Given the description of an element on the screen output the (x, y) to click on. 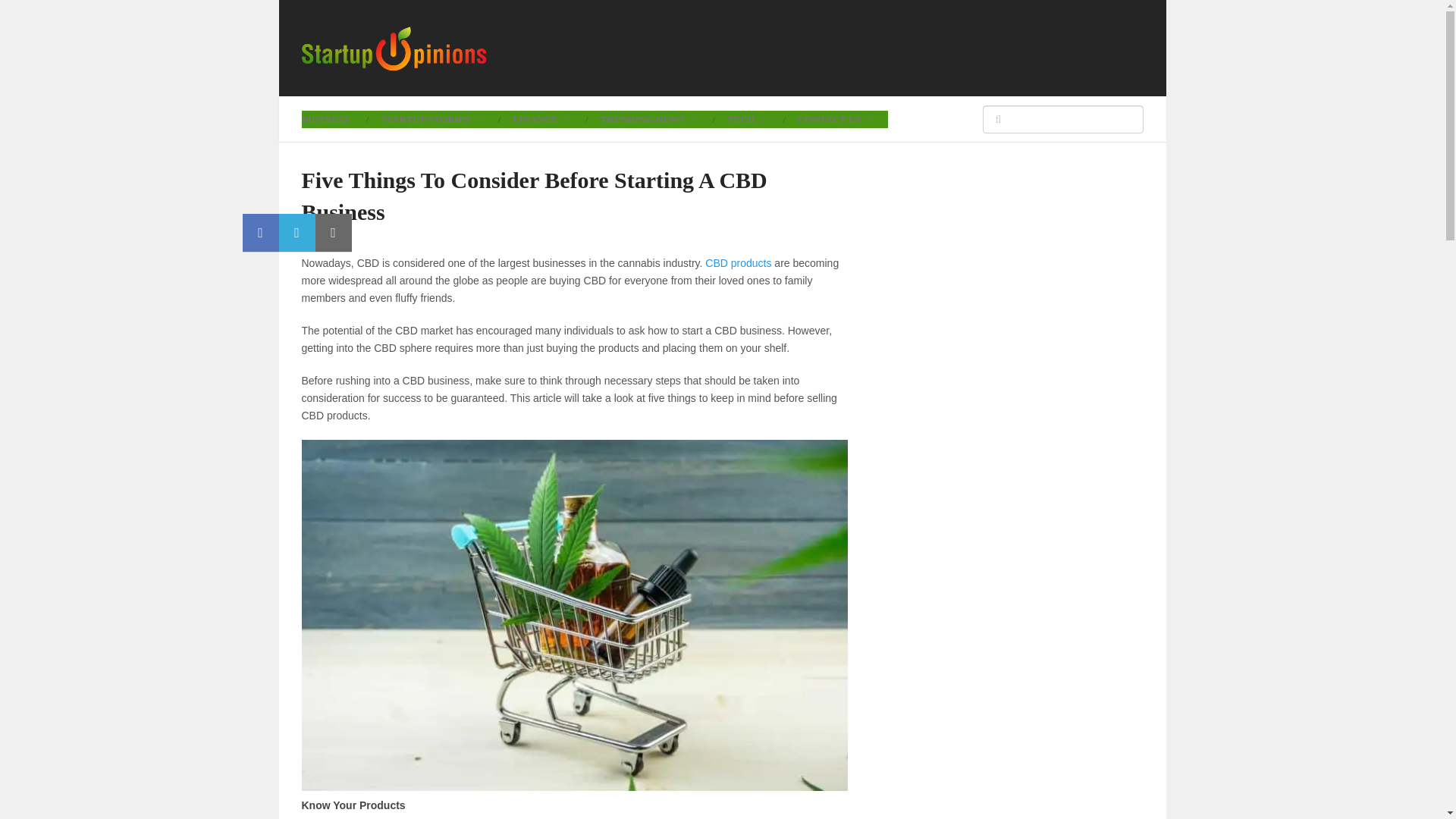
TRENDING NEWS (648, 118)
TECH (746, 118)
CONTACT US (834, 118)
FINANCE (539, 118)
CBD products (737, 263)
STARTUP STORIES (430, 118)
BUSINESS (333, 118)
